Given the description of an element on the screen output the (x, y) to click on. 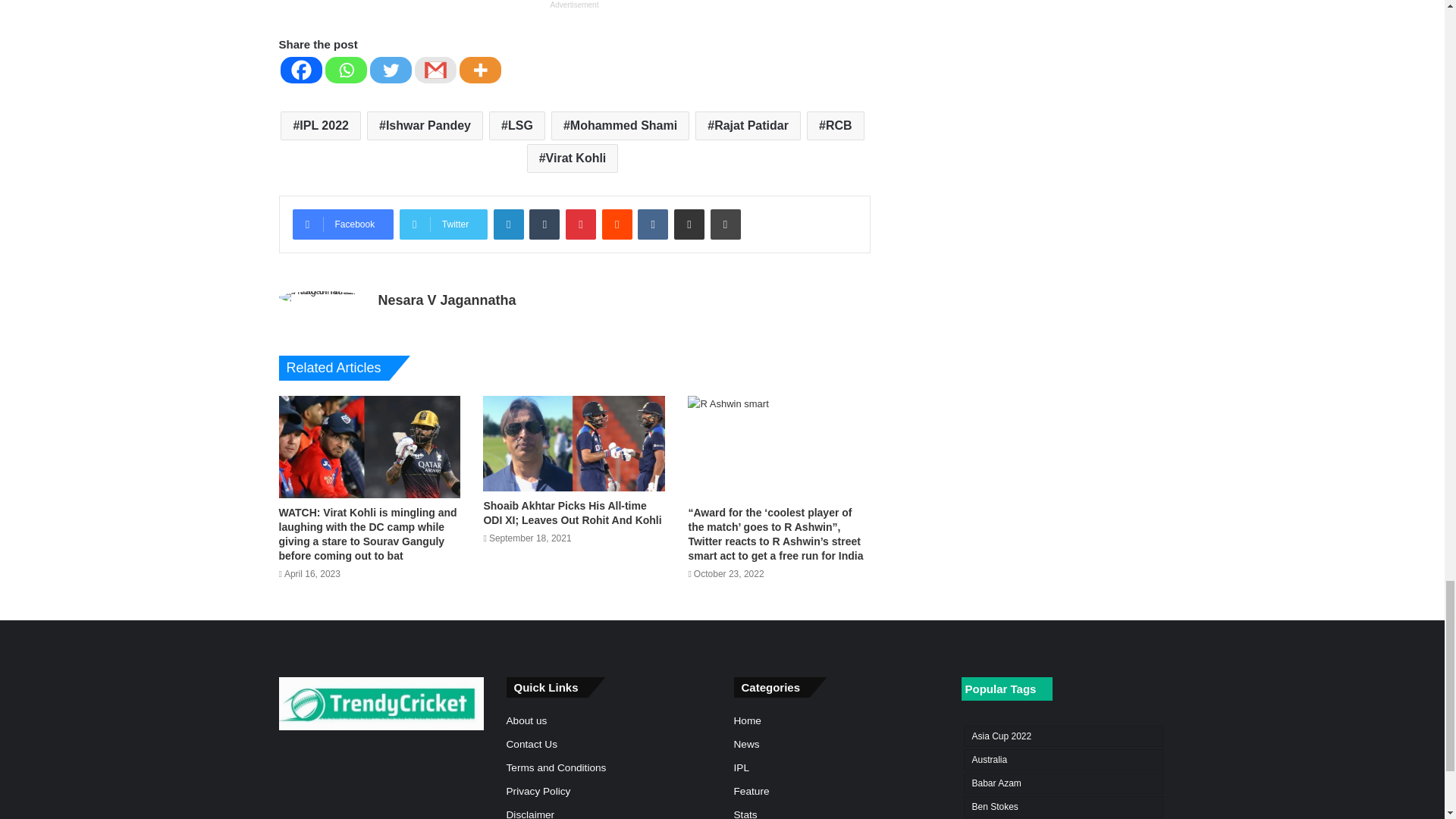
Twitter (390, 69)
Facebook (343, 224)
Facebook (301, 69)
Google Gmail (434, 69)
Whatsapp (345, 69)
Twitter (442, 224)
More (480, 69)
